Given the description of an element on the screen output the (x, y) to click on. 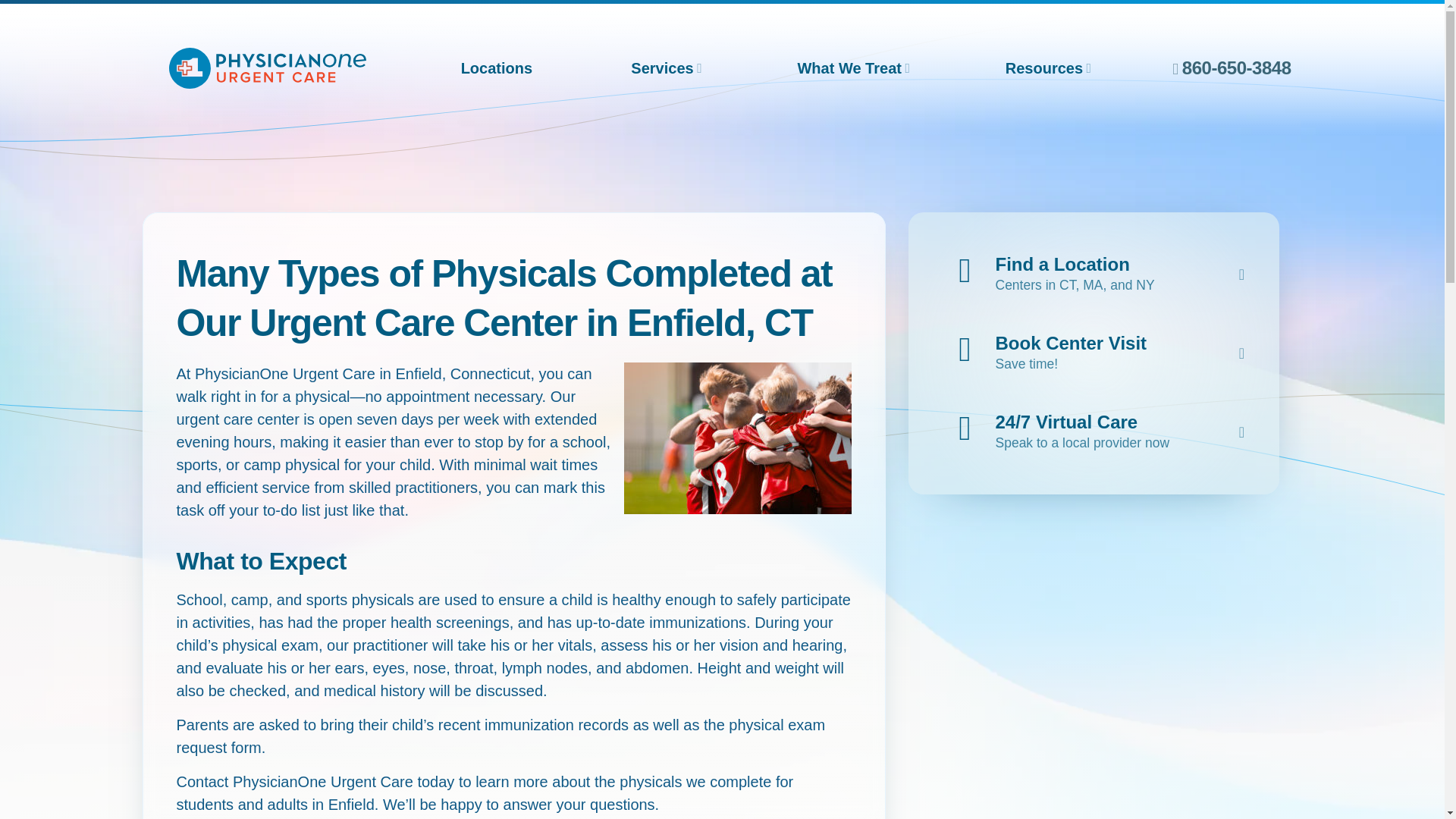
Locations (495, 67)
